Given the description of an element on the screen output the (x, y) to click on. 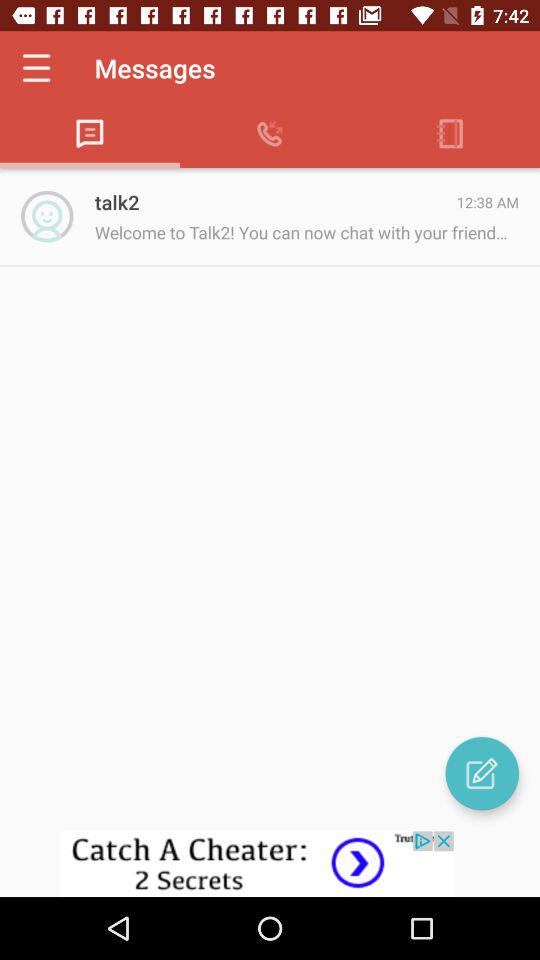
new message (482, 773)
